Given the description of an element on the screen output the (x, y) to click on. 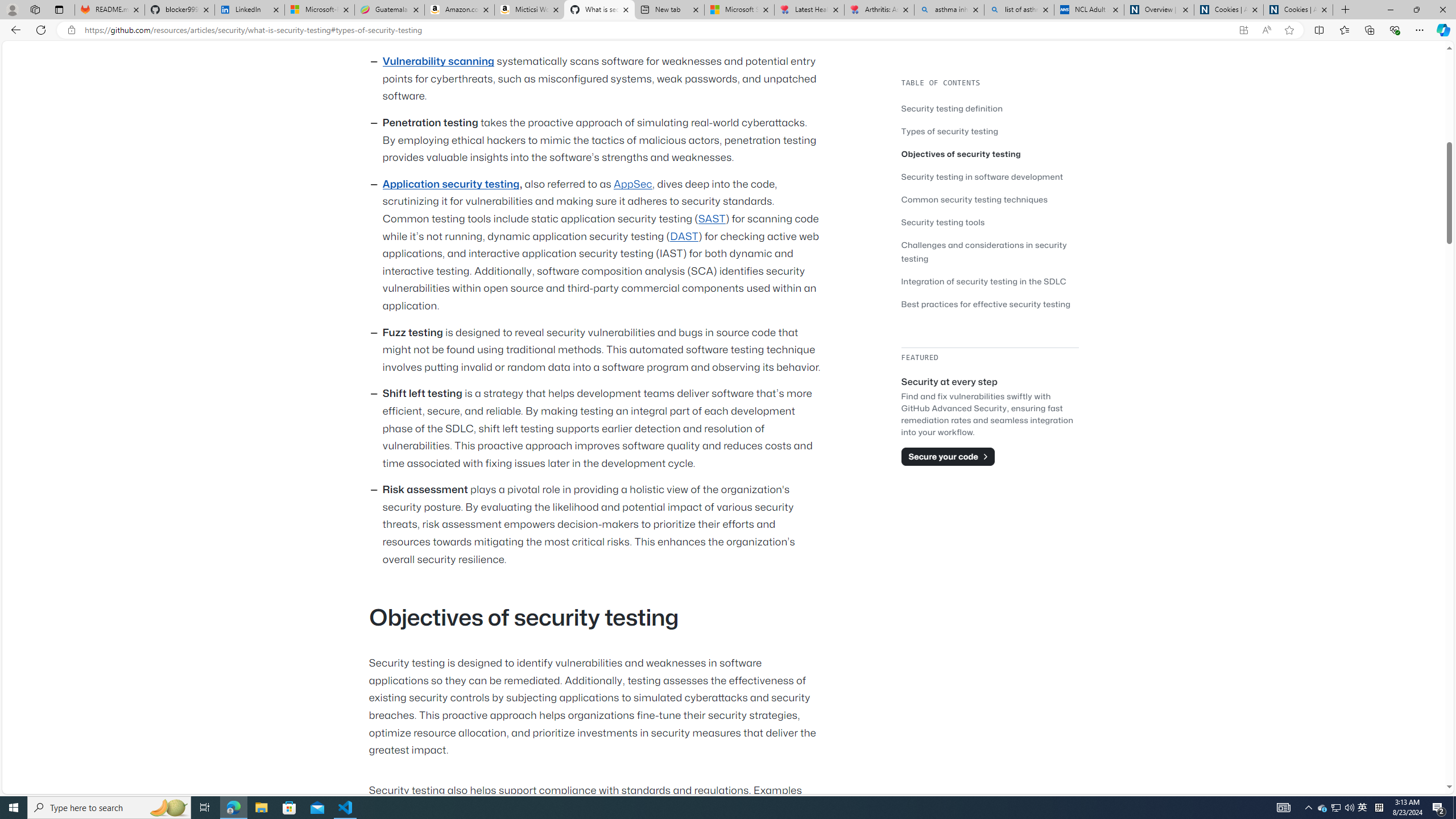
Security testing tools (989, 221)
Types of security testing (989, 130)
Integration of security testing in the SDLC (983, 280)
Security testing in software development (981, 176)
Best practices for effective security testing (989, 303)
asthma inhaler - Search (949, 9)
